Given the description of an element on the screen output the (x, y) to click on. 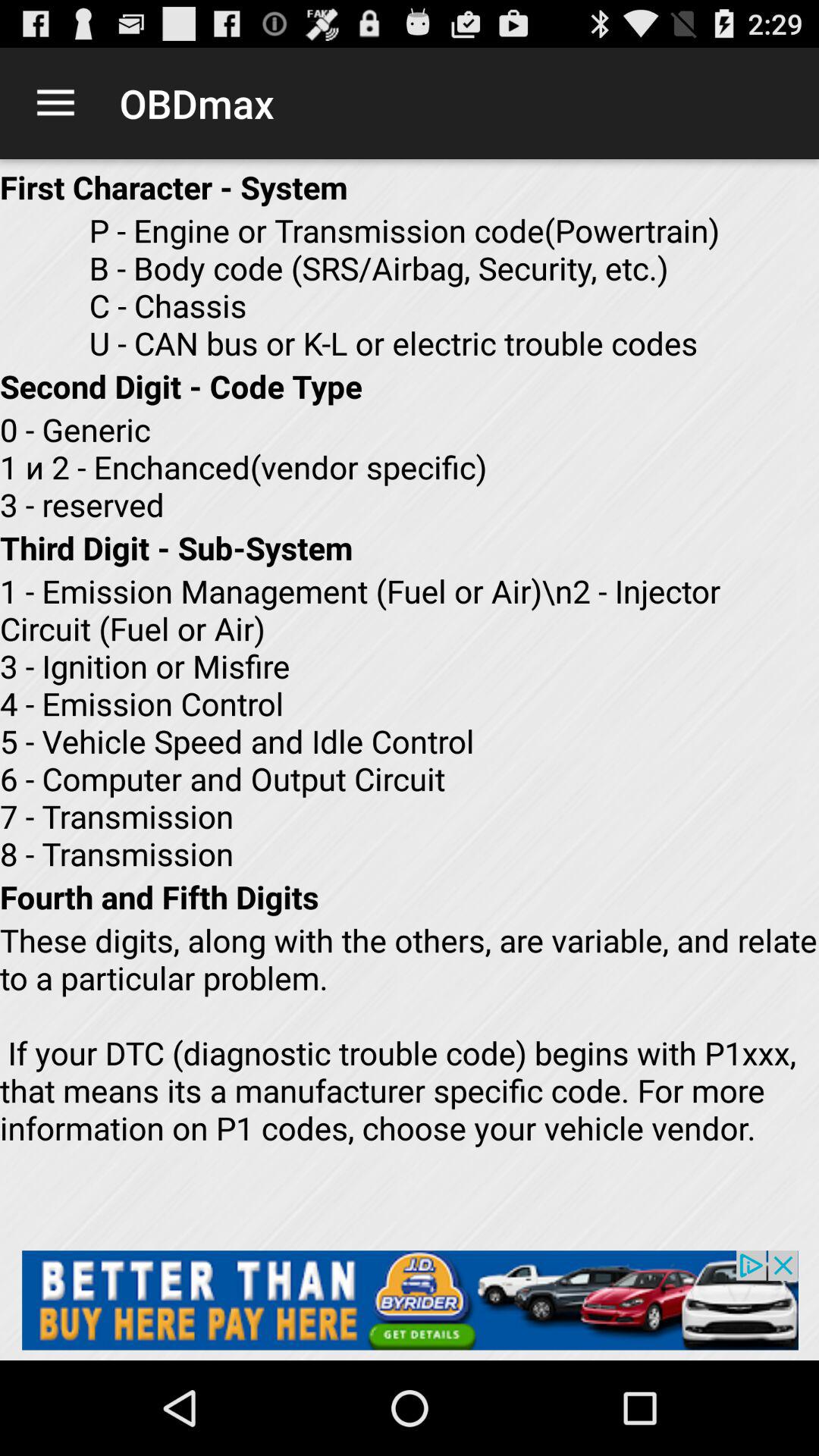
go to advertising site (409, 1300)
